Given the description of an element on the screen output the (x, y) to click on. 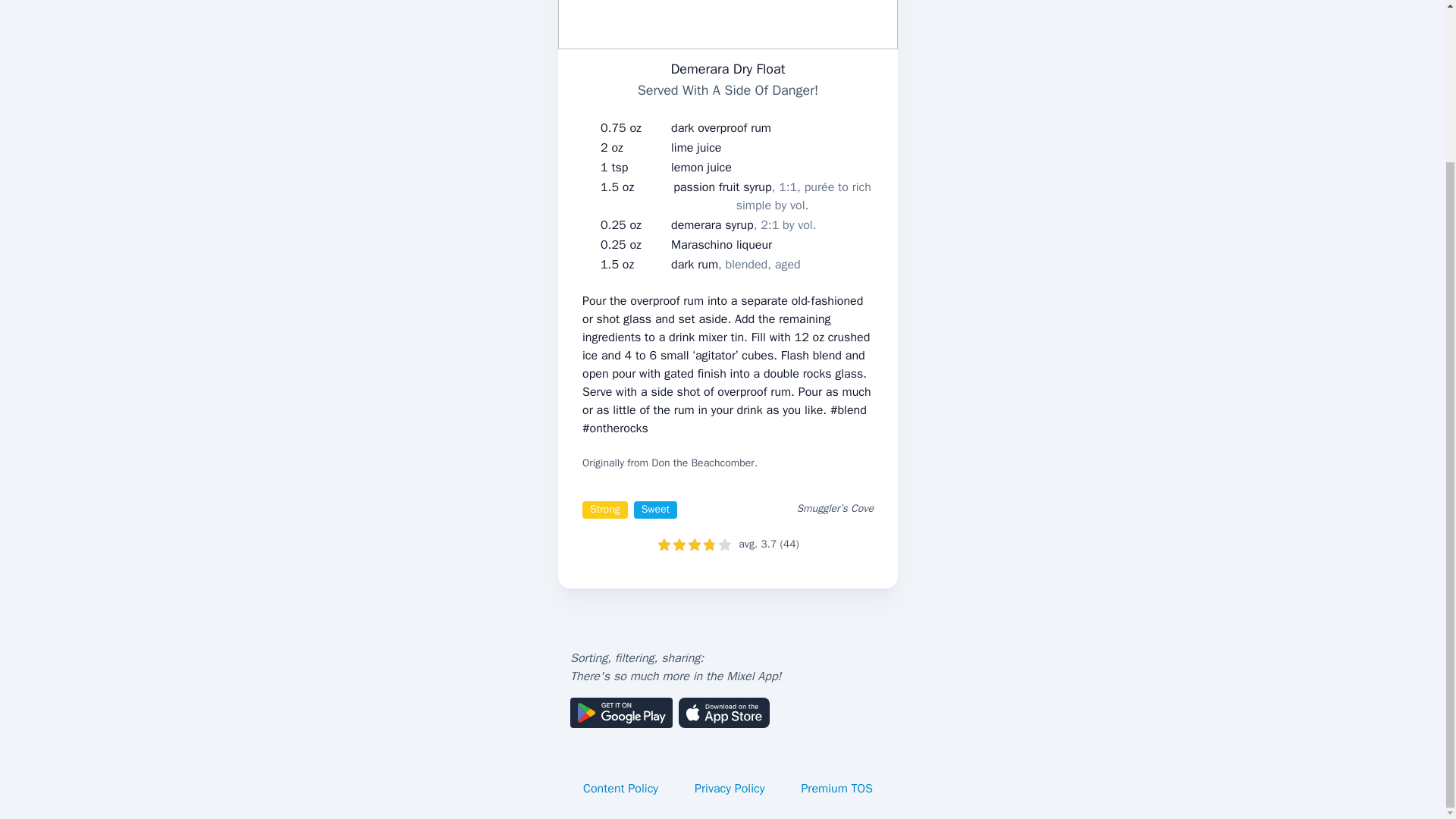
lemon juice (701, 167)
Privacy Policy (729, 788)
dark overproof rum (721, 127)
demerara syrup, 2:1 by vol. (743, 225)
dark rum, blended, aged (735, 264)
Maraschino liqueur (721, 244)
Premium TOS (836, 788)
lime juice (695, 147)
Content Policy (620, 788)
